Given the description of an element on the screen output the (x, y) to click on. 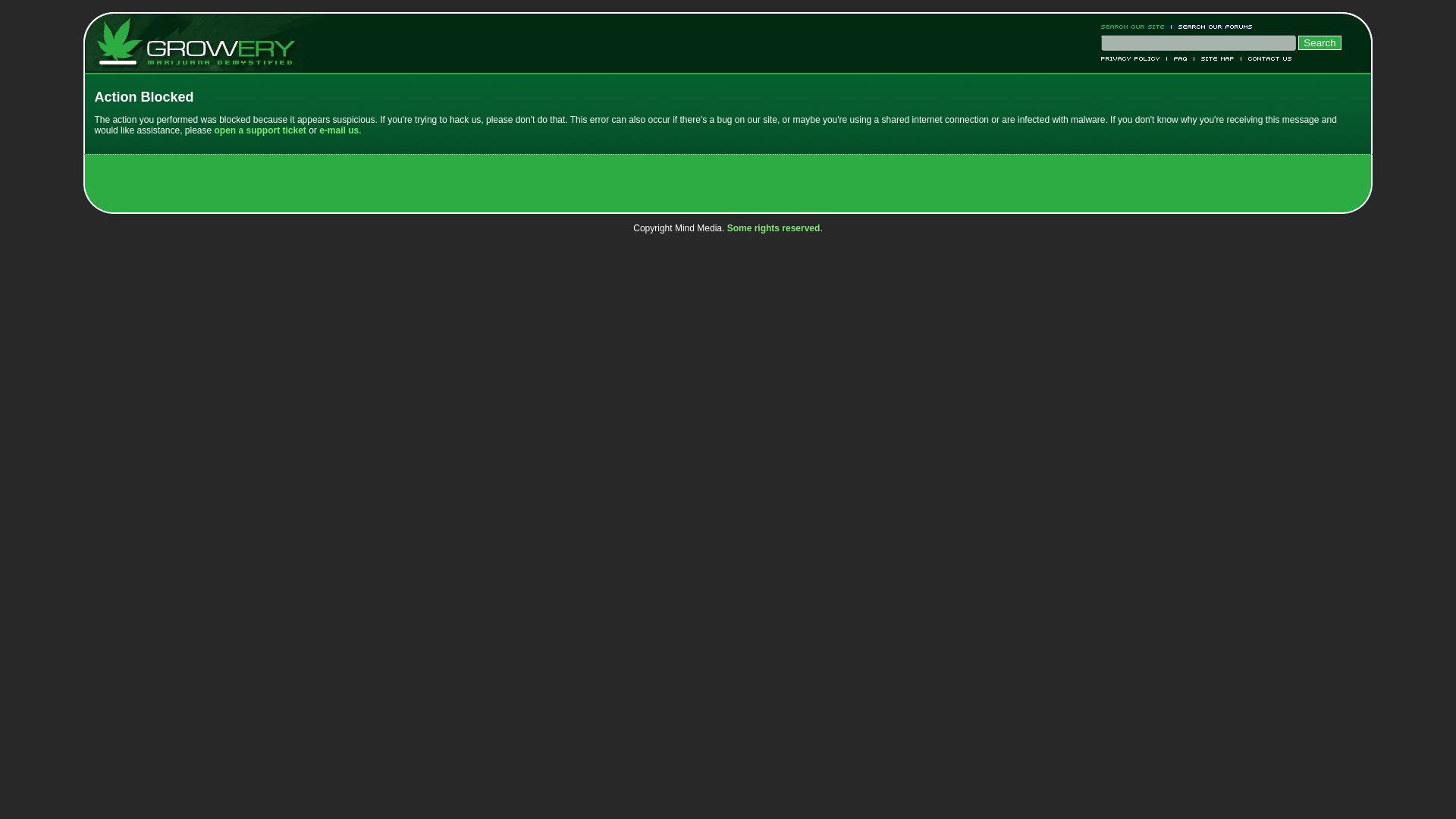
Search Our Forums (1212, 26)
FAQ (1180, 58)
Site Map (1217, 58)
Search Our Site (1136, 26)
Search (1319, 42)
Search (1319, 42)
Contact Us (1266, 58)
Some rights reserved (773, 227)
open a support ticket (259, 130)
Privacy Policy (1133, 58)
e-mail us (338, 130)
